Given the description of an element on the screen output the (x, y) to click on. 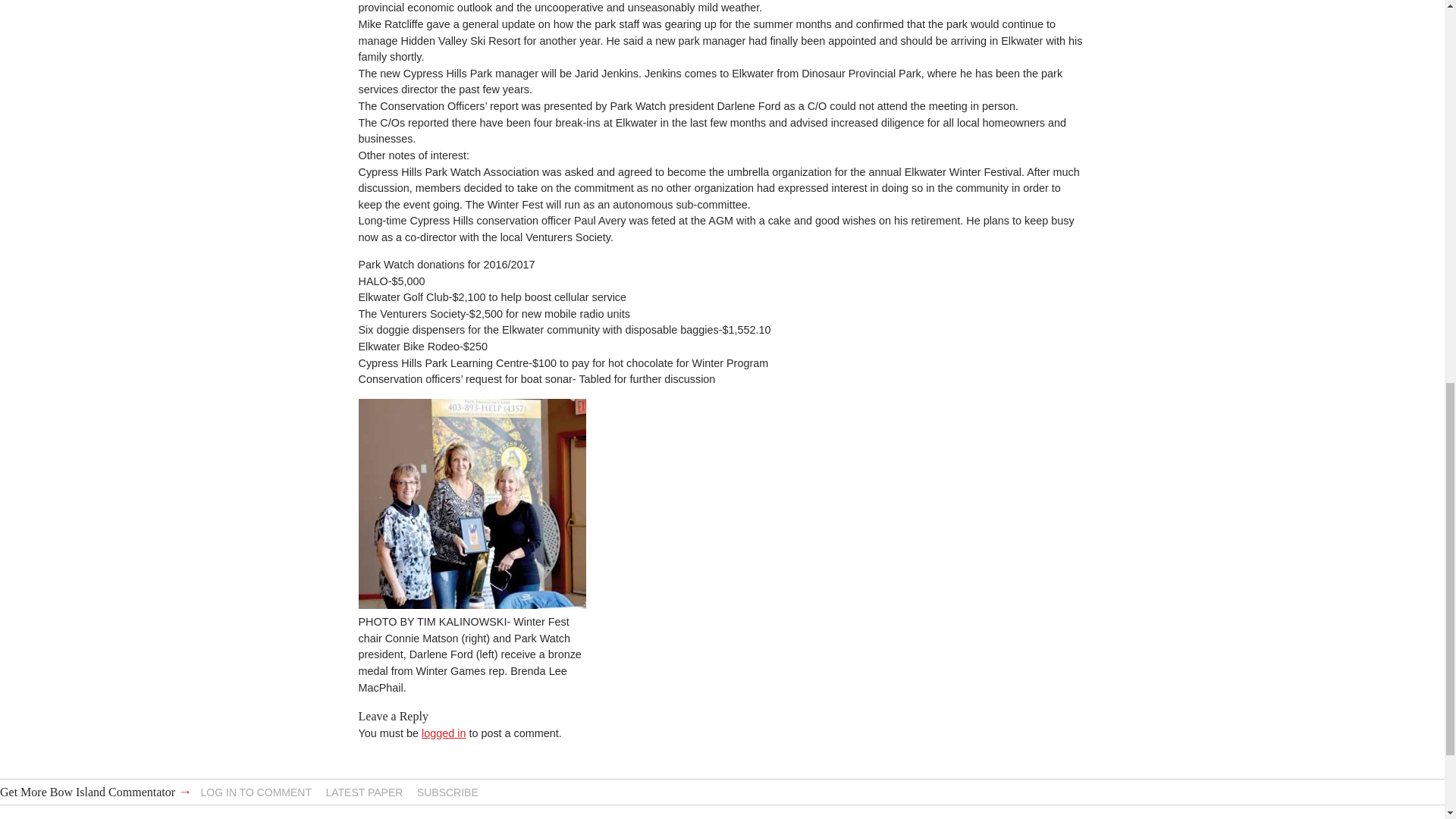
logged in (443, 733)
LOG IN TO COMMENT (256, 792)
LATEST PAPER (363, 792)
SUBSCRIBE (447, 792)
